Given the description of an element on the screen output the (x, y) to click on. 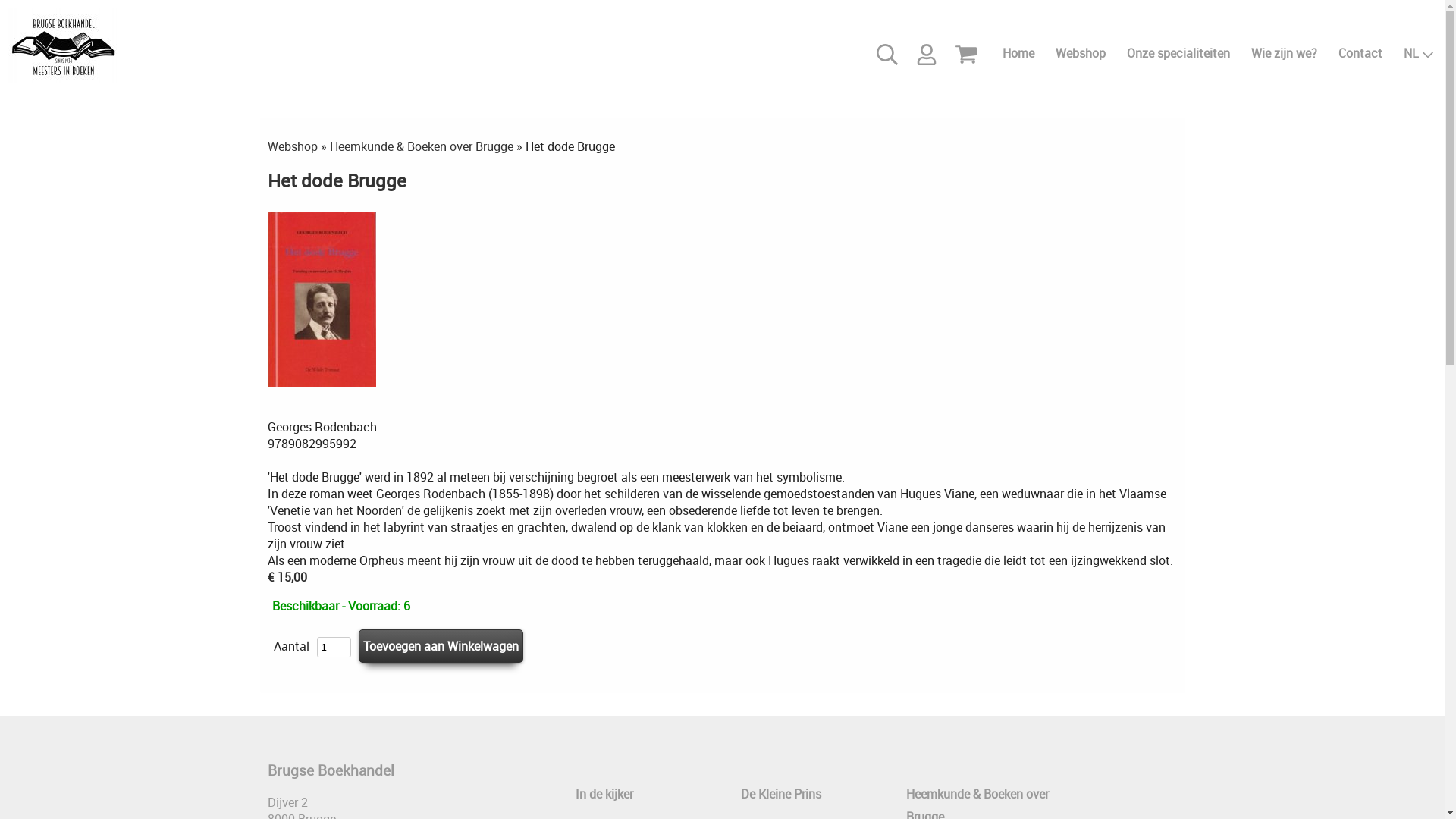
Toevoegen aan Winkelwagen Element type: text (439, 645)
In de kijker Element type: text (603, 795)
Zoeken Element type: text (886, 53)
Heemkunde & Boeken over Brugge Element type: text (420, 146)
NL Element type: text (1418, 53)
Home Element type: text (1017, 53)
Contact Element type: text (1360, 53)
Onze specialiteiten Element type: text (1178, 53)
De Kleine Prins Element type: text (780, 795)
Webshop Element type: text (291, 146)
Webshop Element type: text (1080, 53)
Winkelwagen Element type: text (968, 52)
Inloggen Element type: text (926, 53)
Wie zijn we? Element type: text (1283, 53)
